Given the description of an element on the screen output the (x, y) to click on. 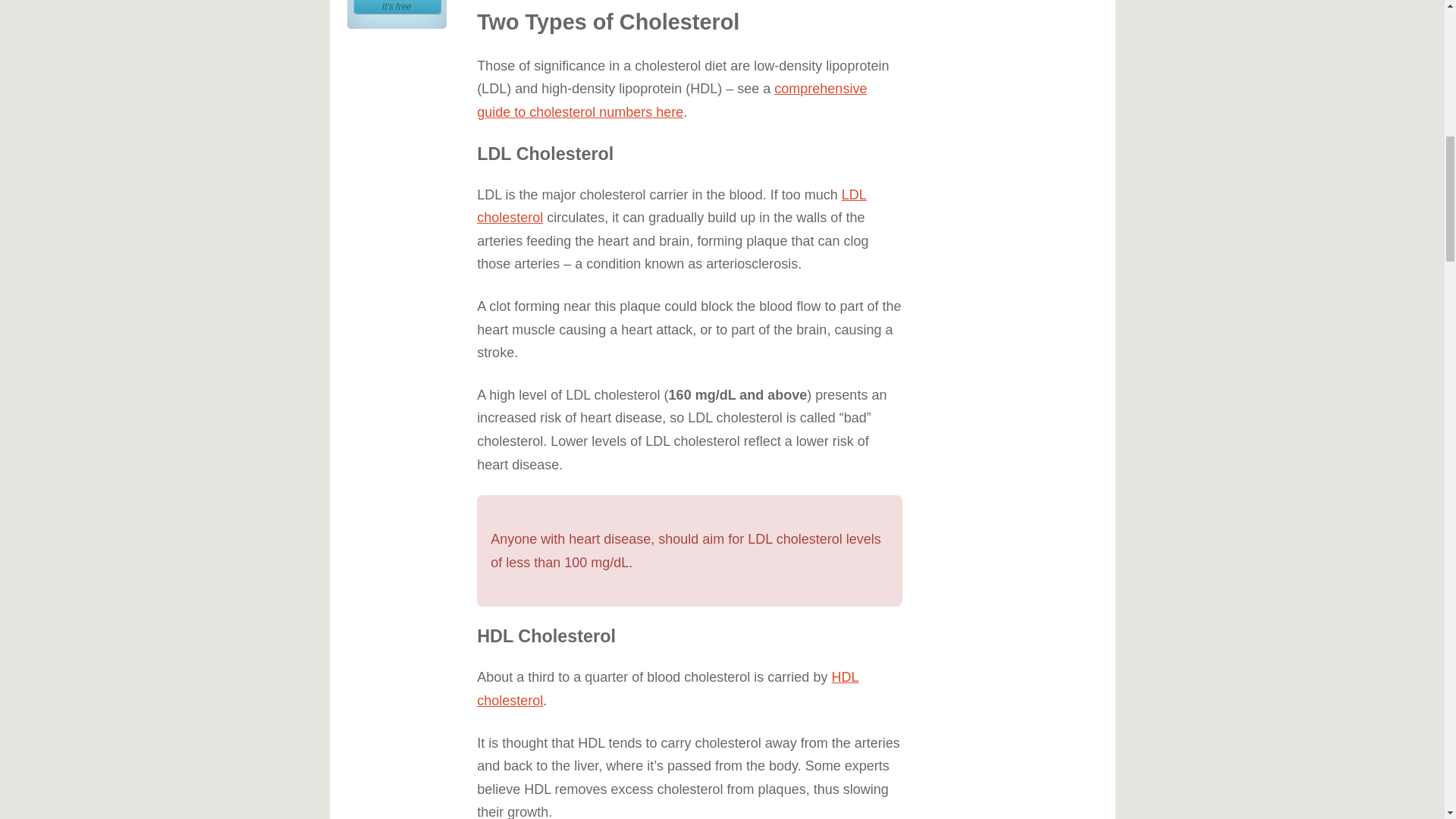
comprehensive guide to cholesterol numbers here (397, 6)
HDL cholesterol (671, 100)
LDL cholesterol (668, 688)
